Given the description of an element on the screen output the (x, y) to click on. 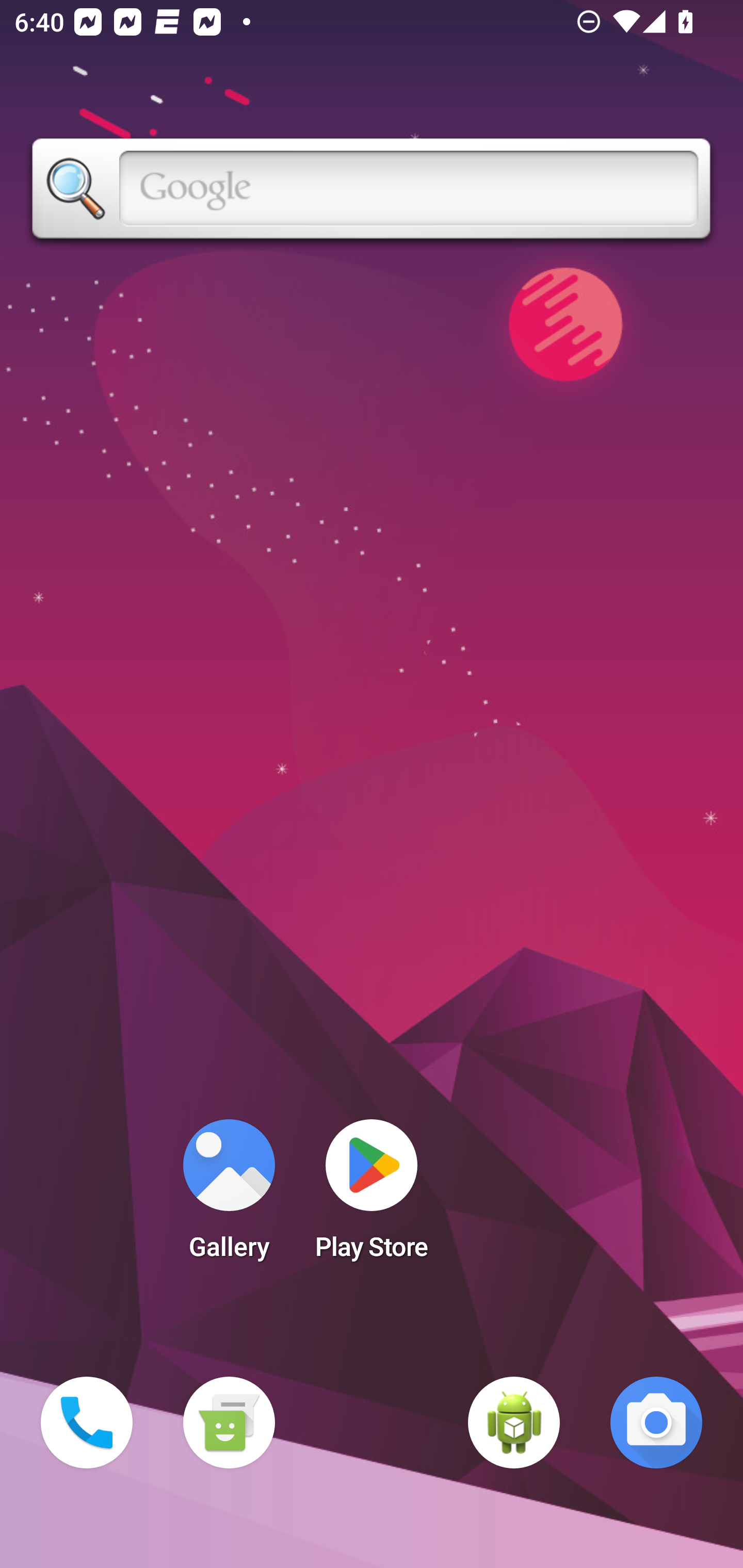
Gallery (228, 1195)
Play Store (371, 1195)
Phone (86, 1422)
Messaging (228, 1422)
WebView Browser Tester (513, 1422)
Camera (656, 1422)
